Given the description of an element on the screen output the (x, y) to click on. 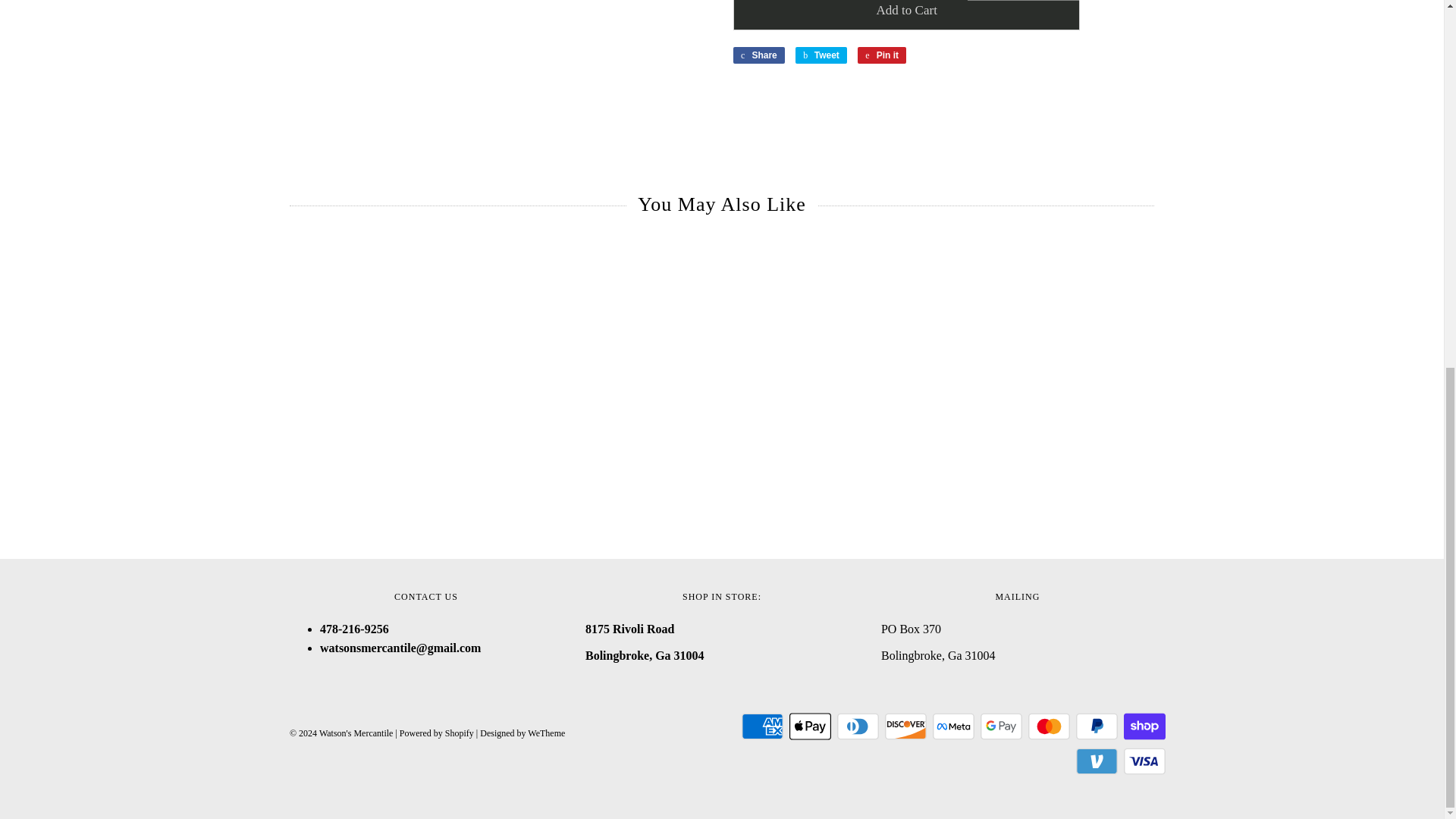
PayPal (1096, 726)
Visa (1145, 761)
Discover (905, 726)
Google Pay (1000, 726)
Diners Club (858, 726)
Designed by WeTheme (522, 733)
American Express (762, 726)
Meta Pay (953, 726)
Venmo (1096, 761)
Mastercard (1048, 726)
Shop Pay (1145, 726)
Apple Pay (810, 726)
